Given the description of an element on the screen output the (x, y) to click on. 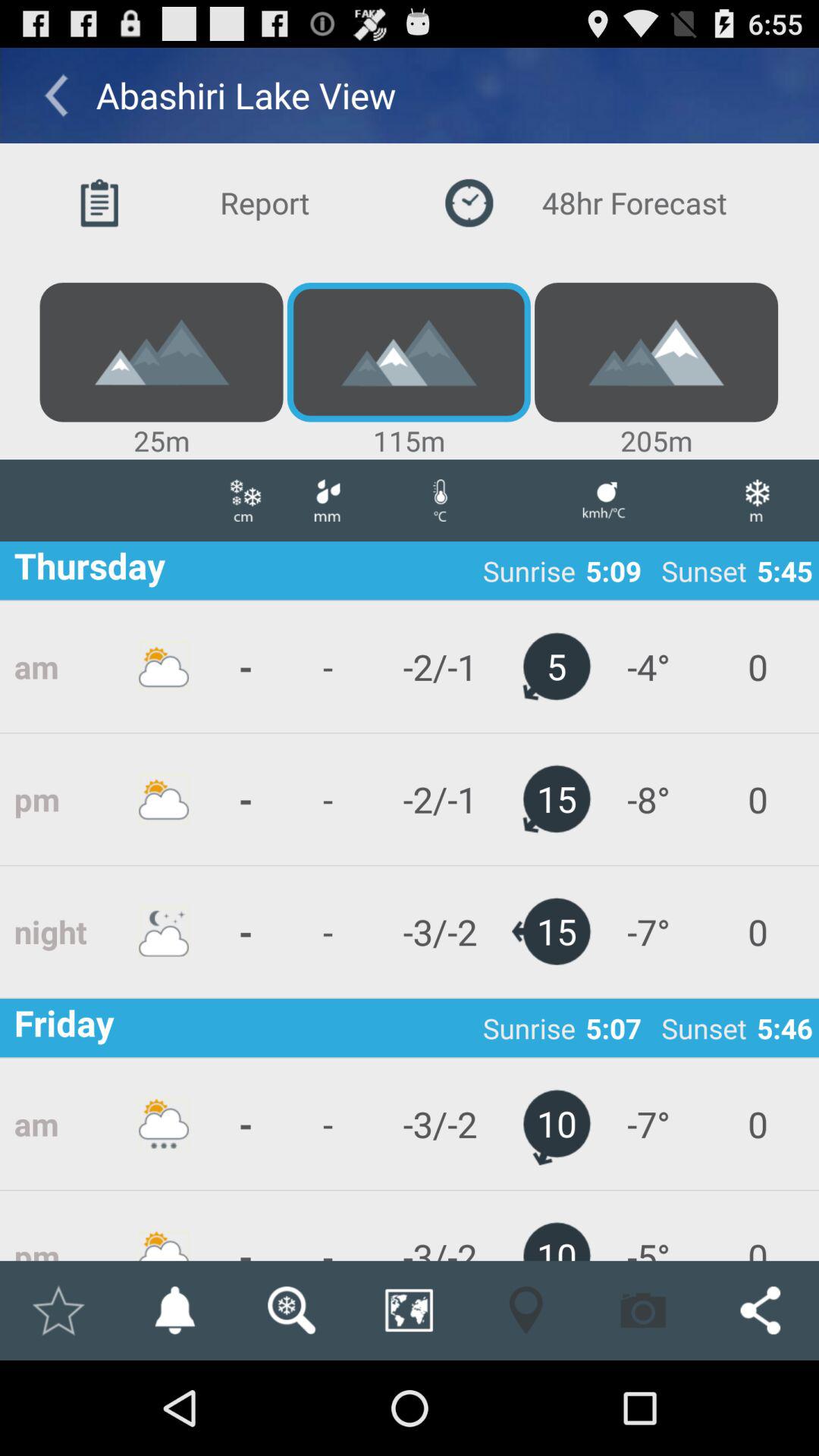
turn on the button next to the report (594, 202)
